Given the description of an element on the screen output the (x, y) to click on. 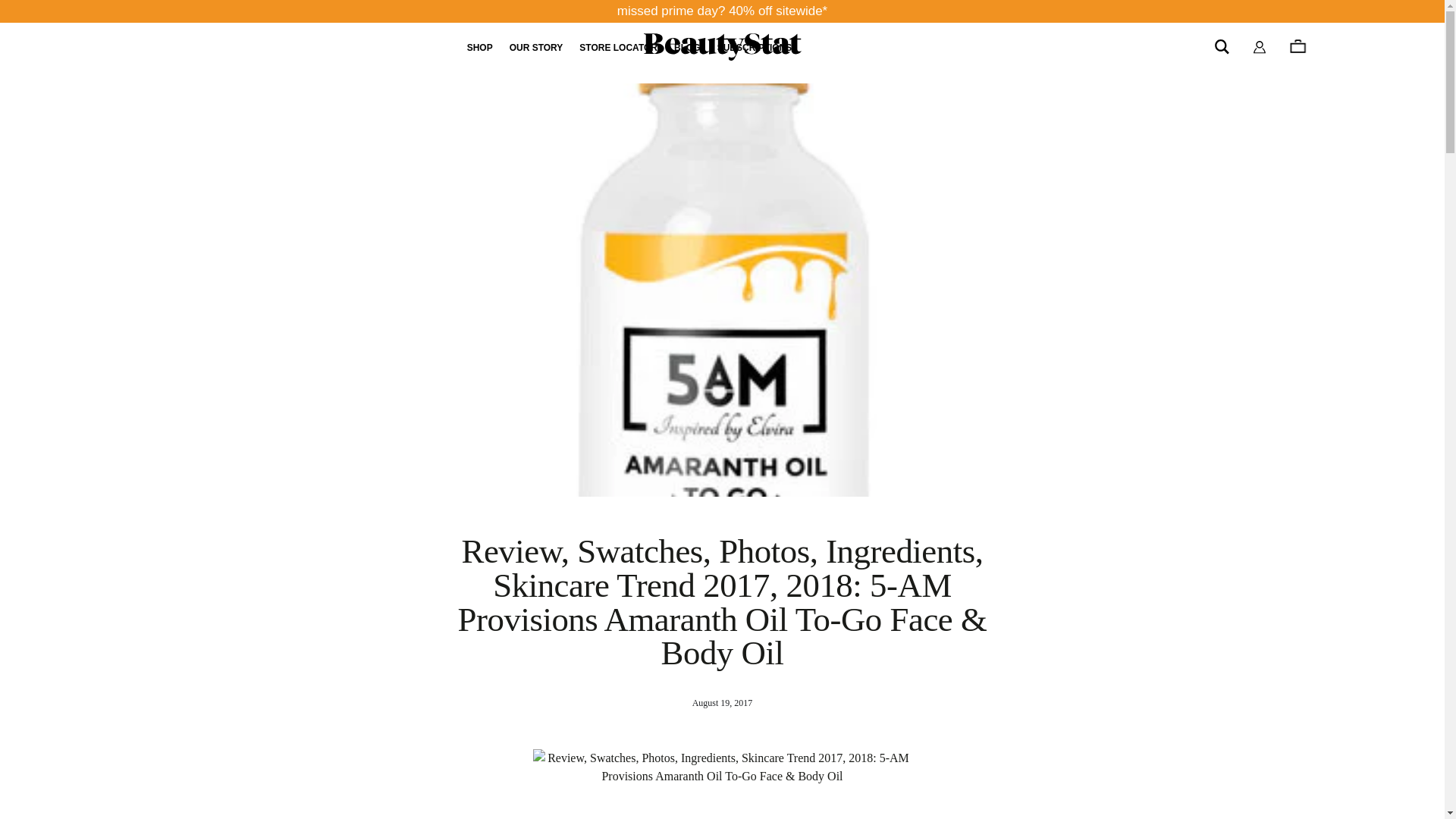
BeautyStat (721, 46)
SHOP (480, 47)
SKIP TO CONTENT (12, 9)
